Given the description of an element on the screen output the (x, y) to click on. 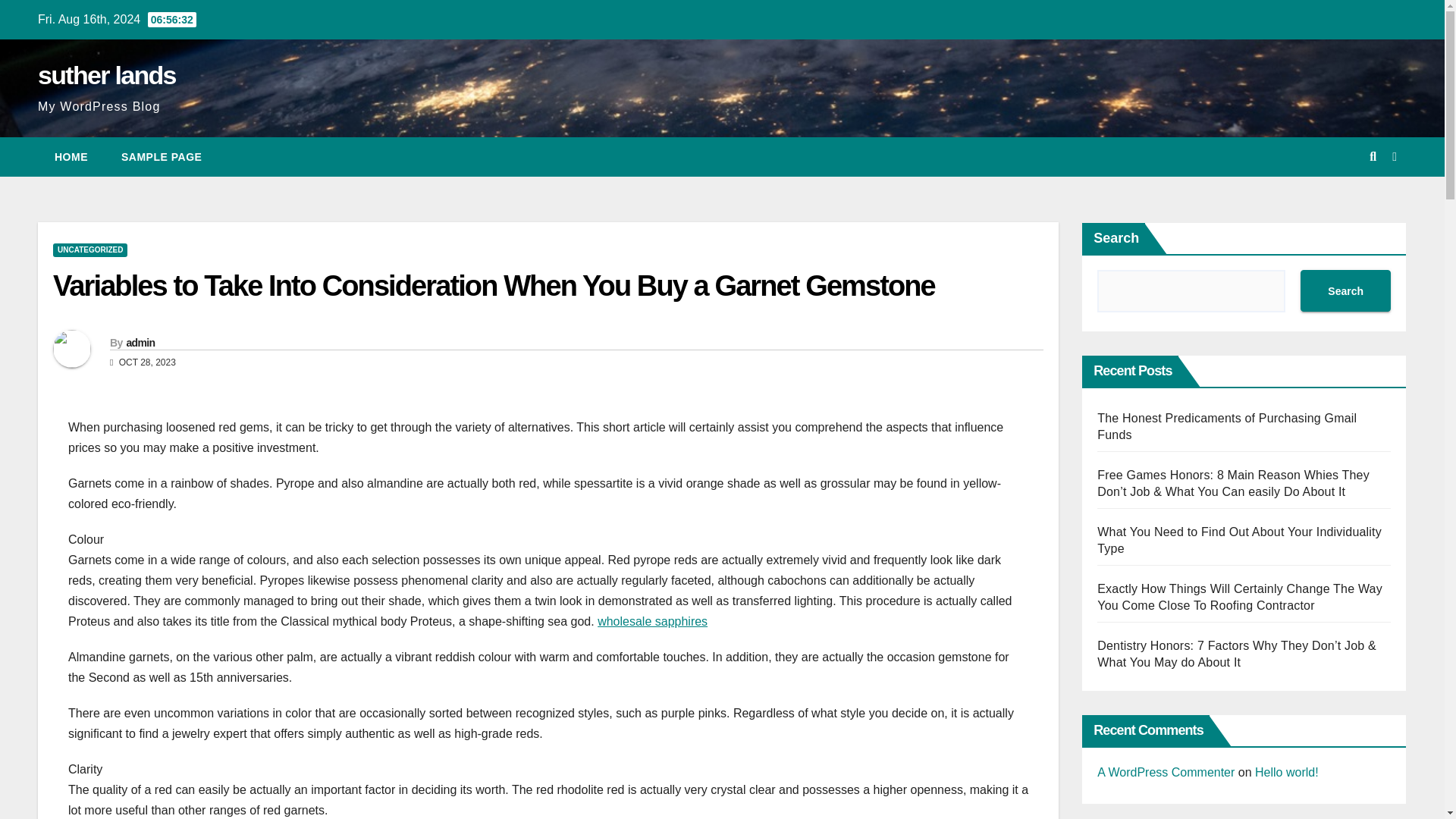
Search (1345, 291)
SAMPLE PAGE (161, 156)
suther lands (106, 74)
admin (139, 342)
UNCATEGORIZED (90, 250)
HOME (70, 156)
wholesale sapphires (651, 621)
Home (70, 156)
